Given the description of an element on the screen output the (x, y) to click on. 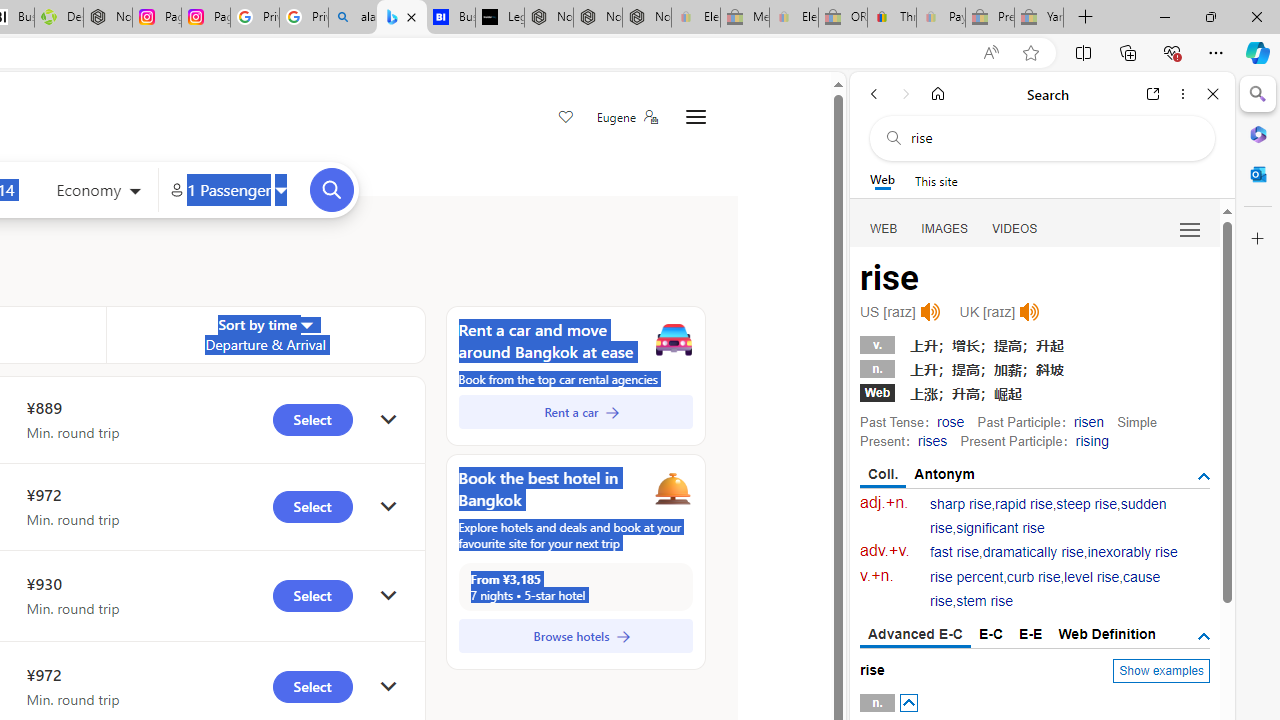
AutomationID: tgsb (1203, 476)
Sorter (306, 324)
rise percent (966, 577)
Press Room - eBay Inc. - Sleeping (989, 17)
Rent a car (575, 412)
Browse hotels (575, 636)
Microsoft Bing Travel - Flights from Hong Kong to Bangkok (401, 17)
rose (950, 421)
